Given the description of an element on the screen output the (x, y) to click on. 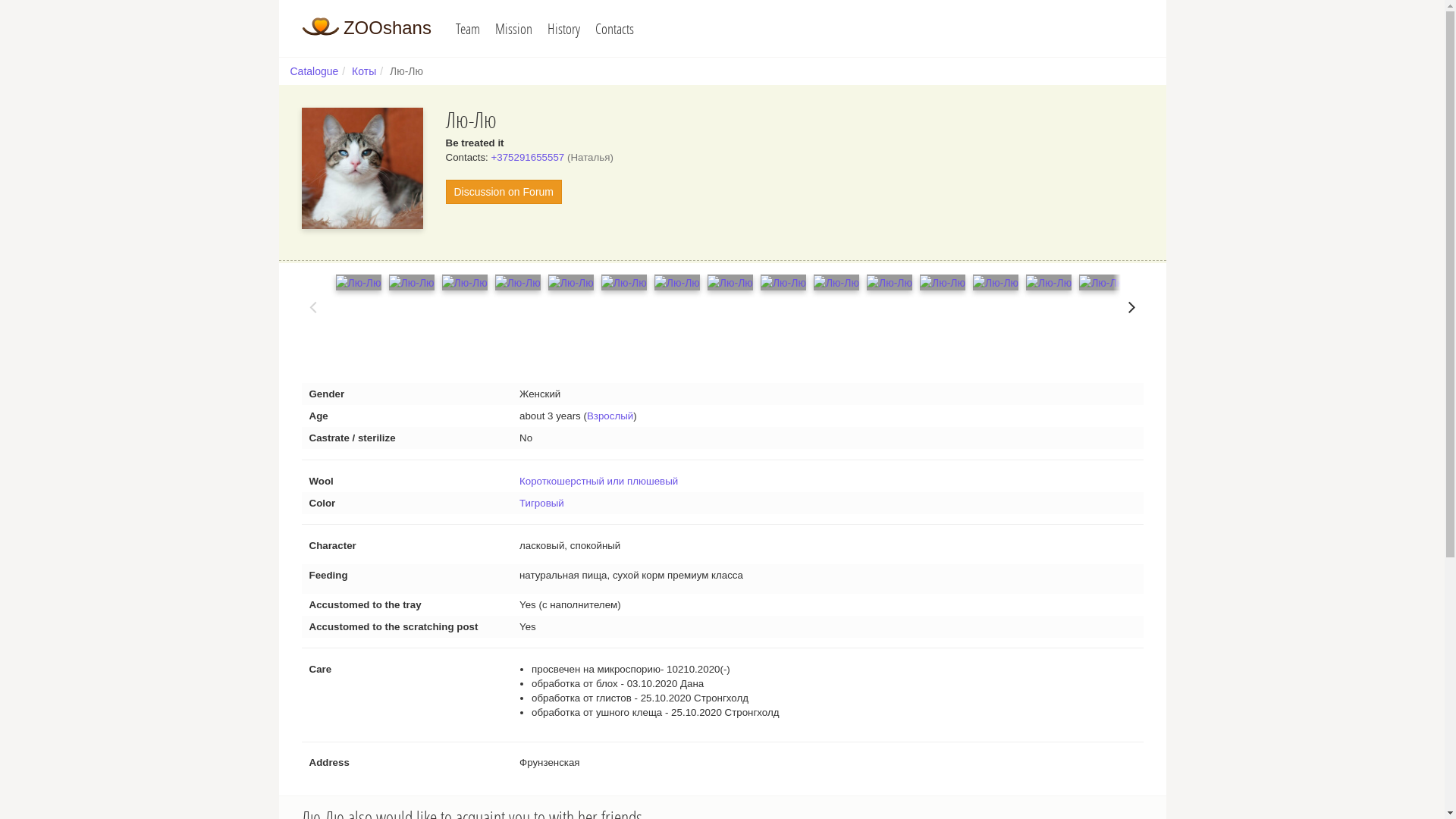
Catalogue Element type: text (313, 71)
Contacts Element type: text (614, 28)
Team Element type: text (467, 28)
Discussion on Forum Element type: text (503, 191)
History Element type: text (563, 28)
ZOOshans Element type: text (366, 26)
+375291655557 Element type: text (527, 157)
Mission Element type: text (513, 28)
